Given the description of an element on the screen output the (x, y) to click on. 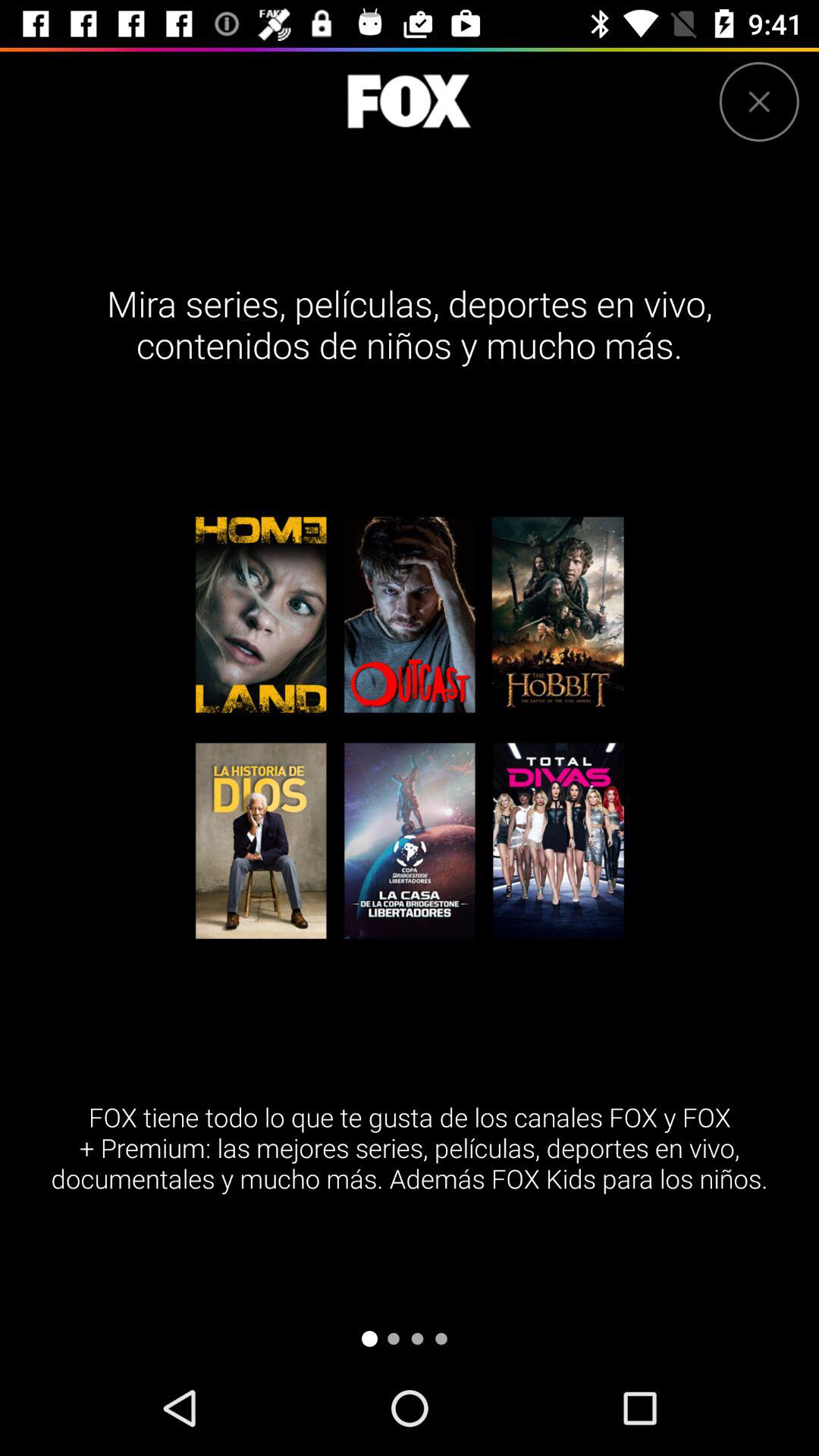
close (759, 101)
